Given the description of an element on the screen output the (x, y) to click on. 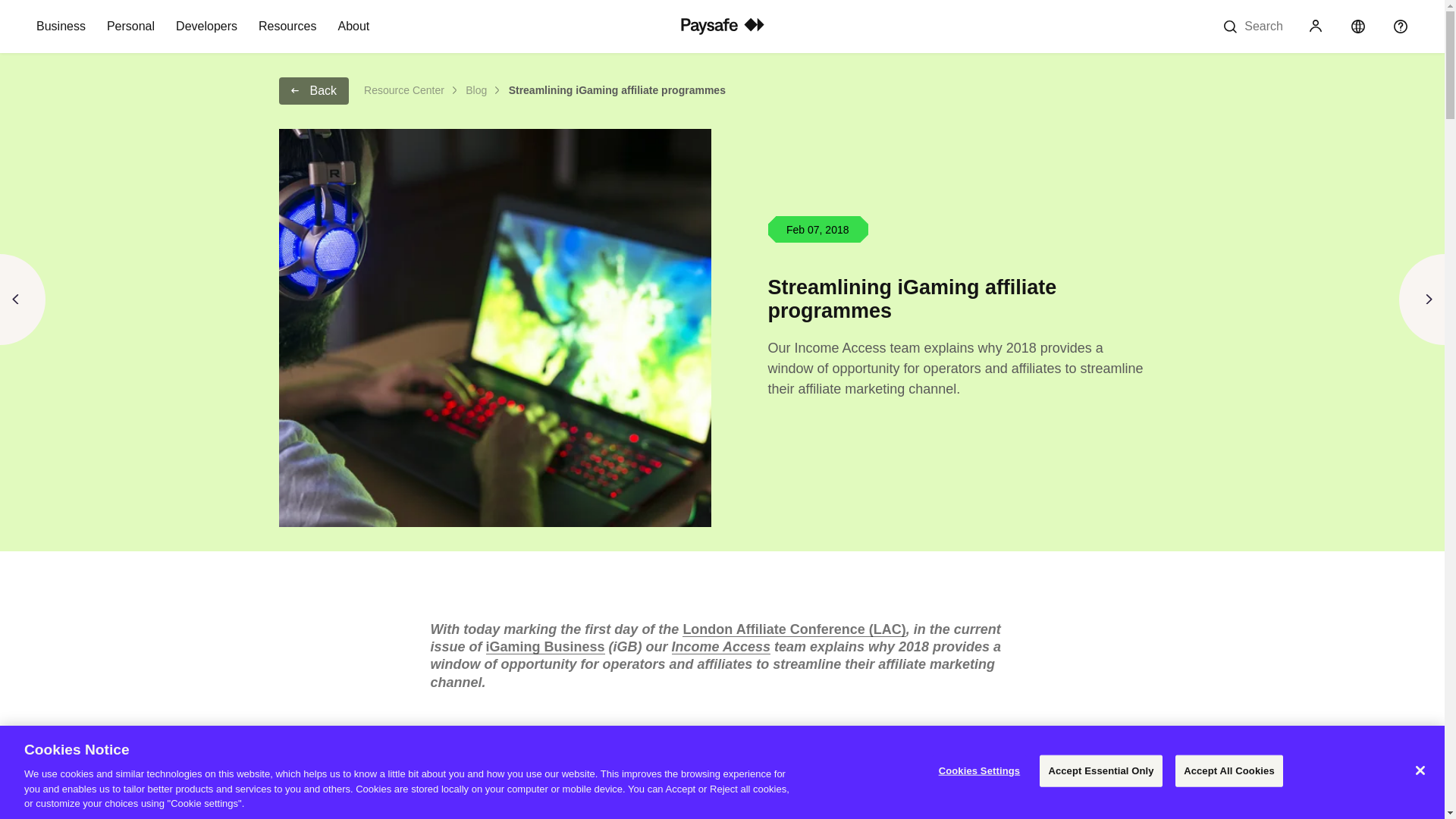
Resources (286, 26)
Developers (206, 26)
Personal (130, 26)
Business (60, 26)
